Given the description of an element on the screen output the (x, y) to click on. 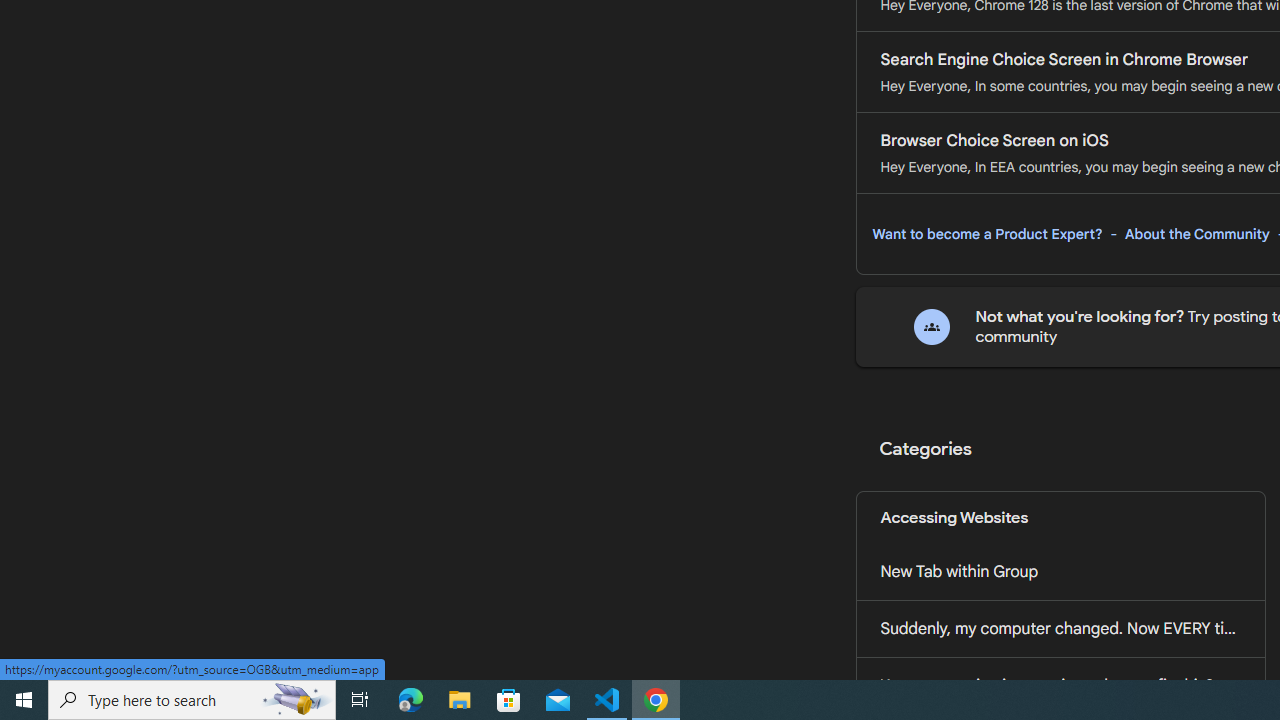
Want to become a Product Expert? (987, 233)
About the Community (1197, 233)
